Given the description of an element on the screen output the (x, y) to click on. 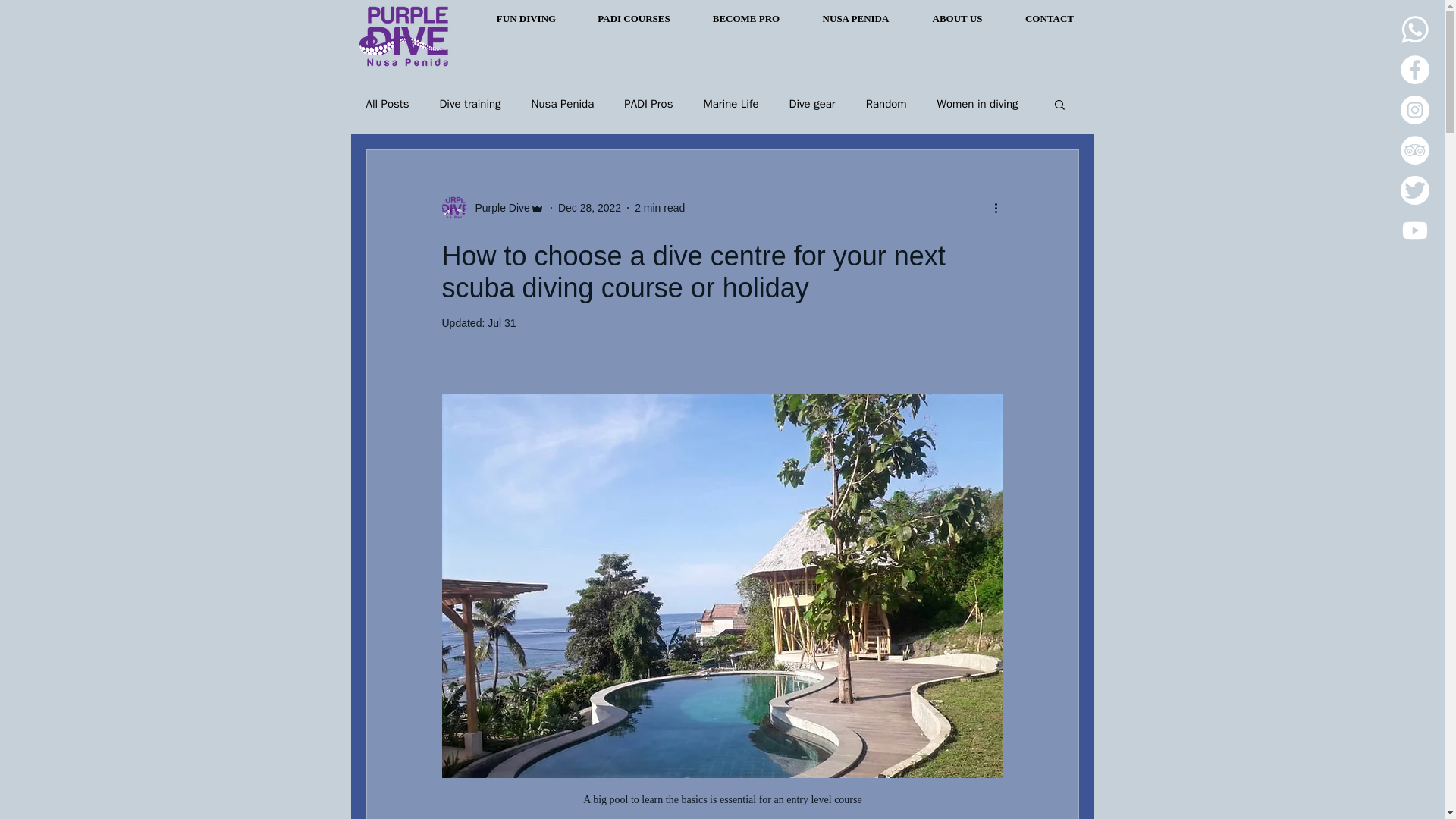
FUN DIVING (525, 18)
Dec 28, 2022 (589, 207)
All Posts (387, 104)
CONTACT (1049, 18)
PADI Pros (648, 104)
Dive training (469, 104)
NUSA PENIDA (855, 18)
Nusa Penida (562, 104)
2 min read (659, 207)
Marine Life (730, 104)
PADI COURSES (633, 18)
BECOME PRO (745, 18)
ABOUT US (956, 18)
Purple Dive (497, 207)
Jul 31 (501, 322)
